Given the description of an element on the screen output the (x, y) to click on. 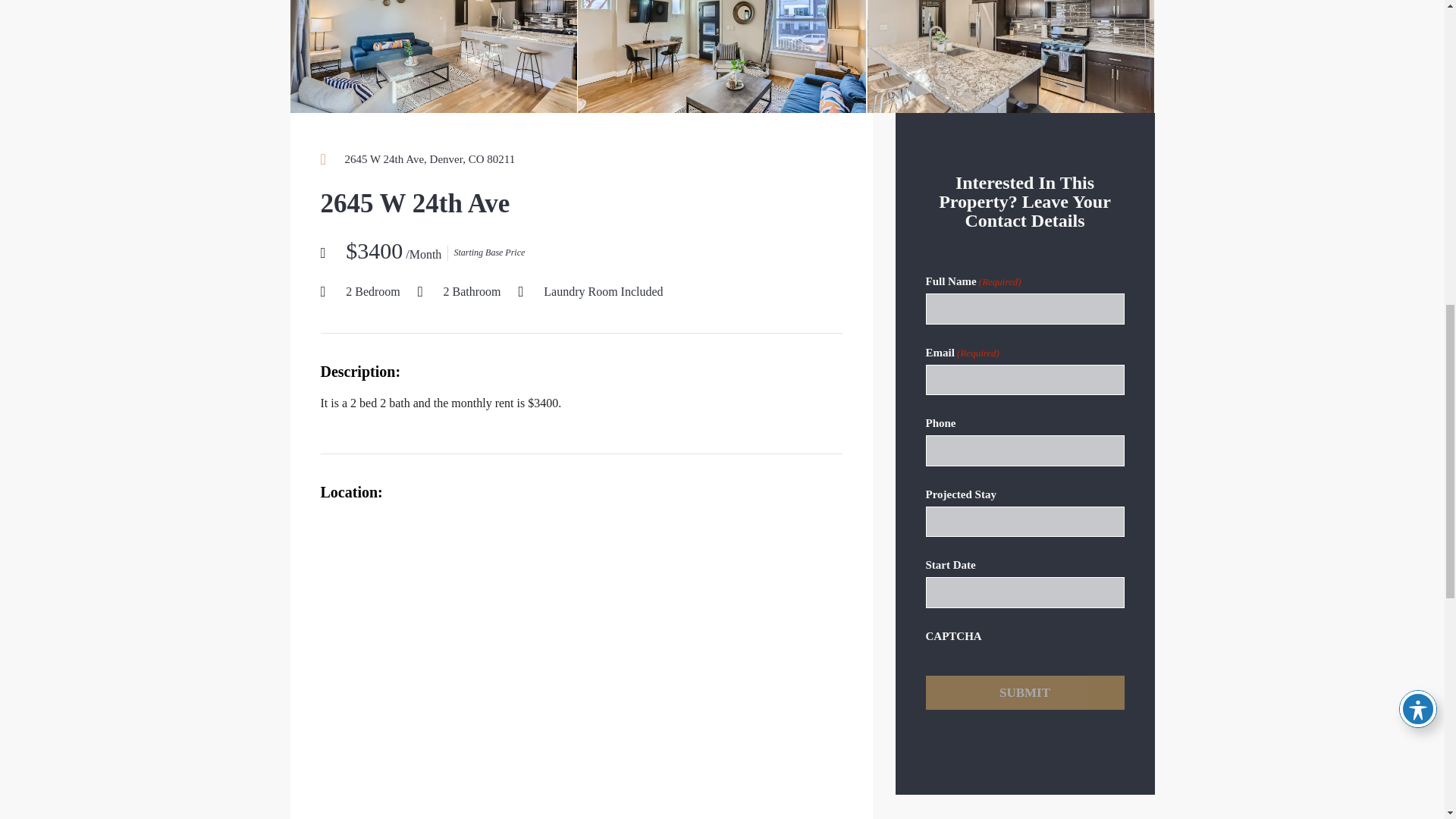
Submit (1024, 692)
